Given the description of an element on the screen output the (x, y) to click on. 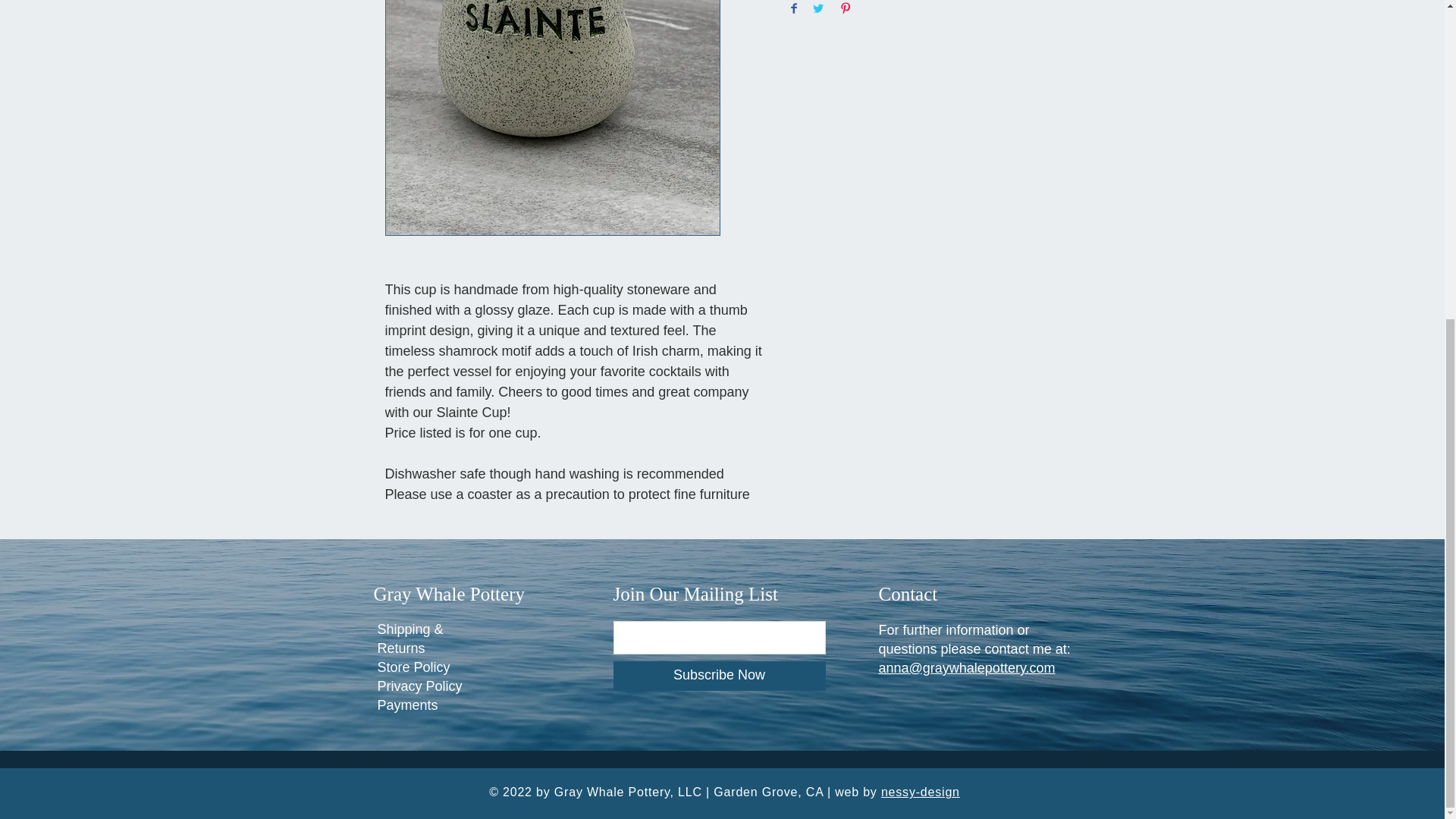
Payments (407, 704)
Privacy Policy (420, 685)
Gray Whale Pottery (448, 593)
Subscribe Now (718, 675)
nessy-design (919, 791)
Store Policy (413, 667)
